Given the description of an element on the screen output the (x, y) to click on. 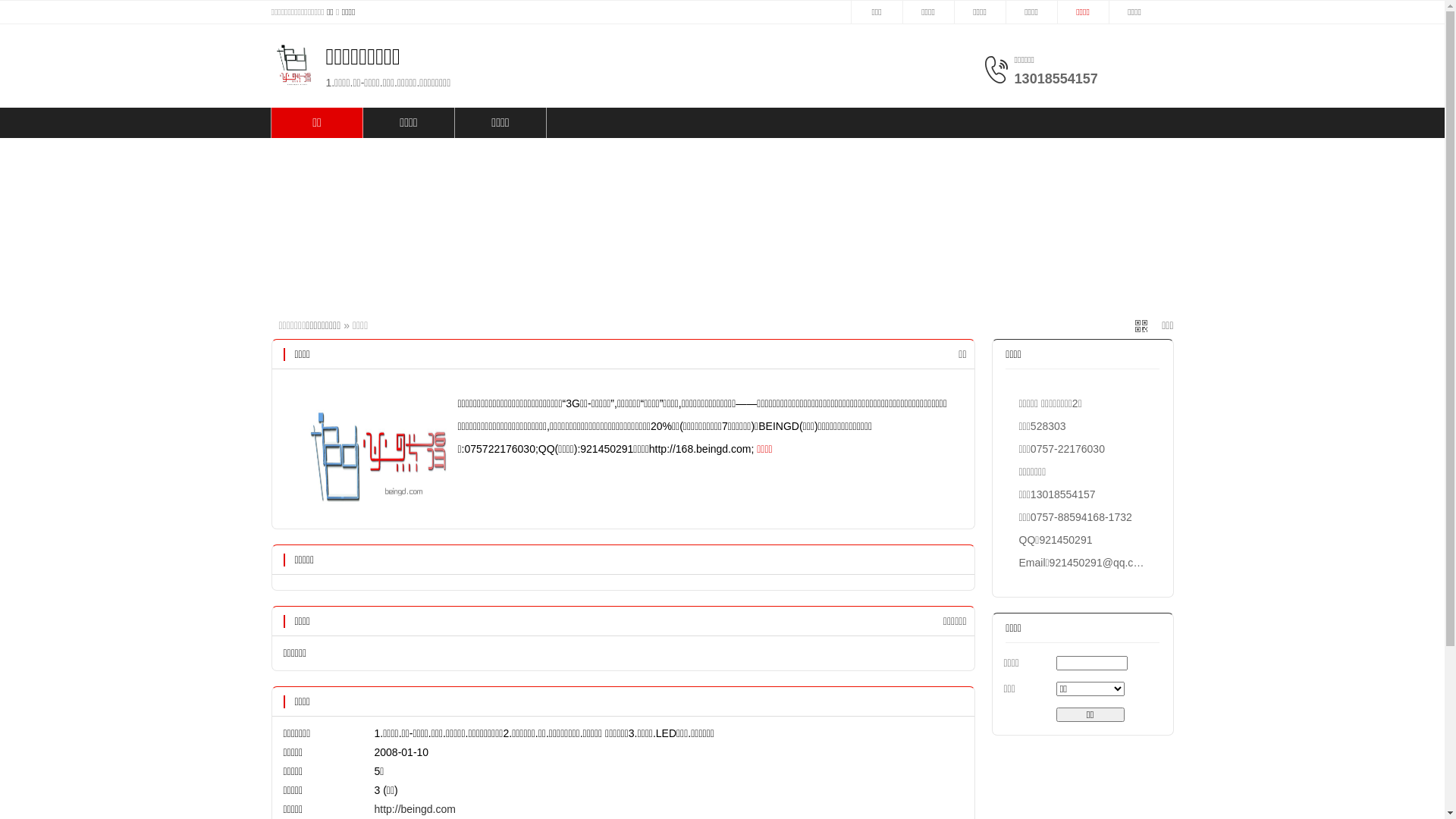
http://beingd.com Element type: text (414, 809)
